Given the description of an element on the screen output the (x, y) to click on. 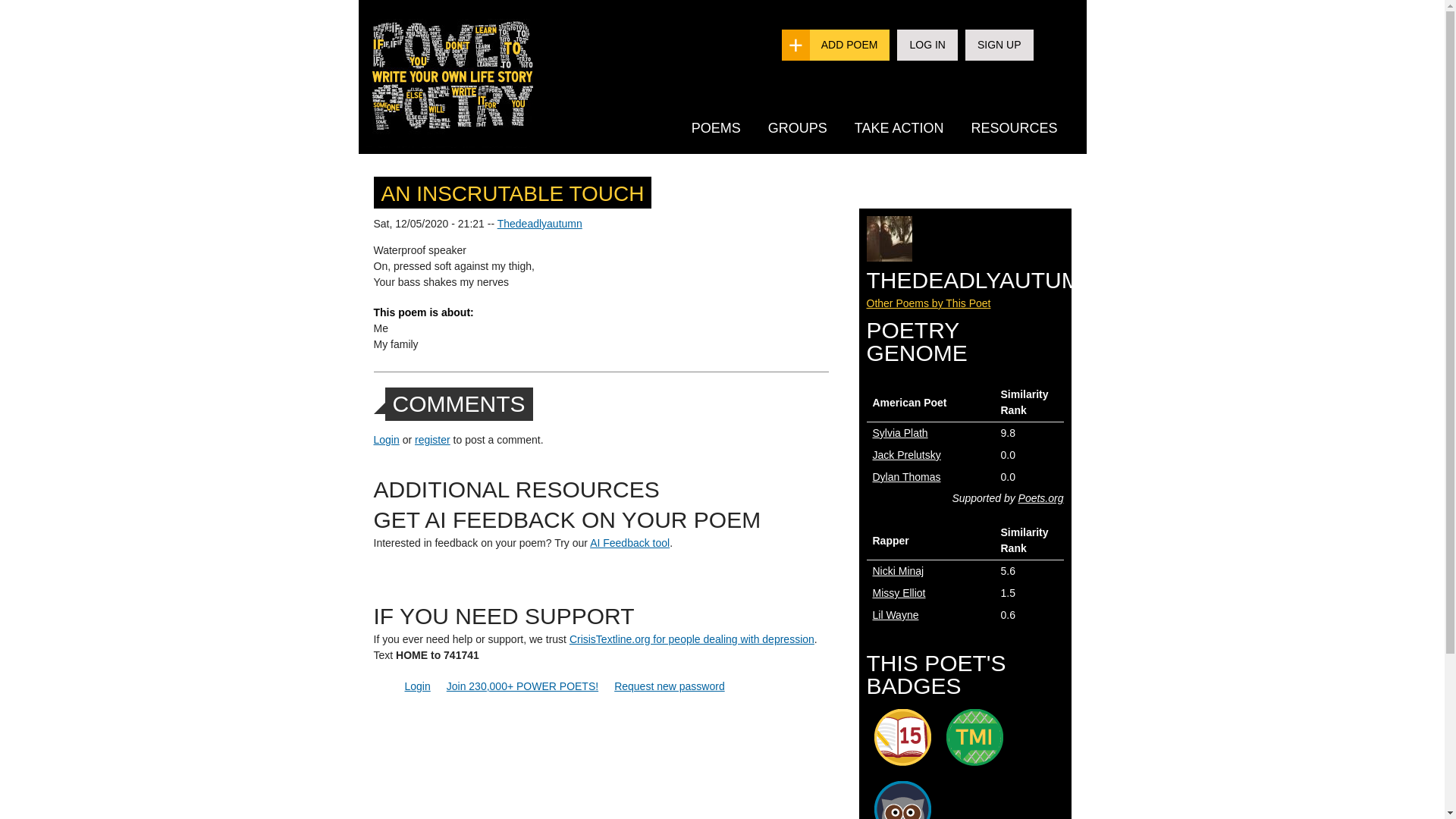
ADD POEM (849, 44)
LOG IN (926, 44)
TAKE ACTION (899, 127)
Skip to main content (691, 1)
GROUPS (797, 127)
POEMS (716, 127)
Thedeadlyautumn (539, 223)
RESOURCES (1013, 127)
SIGN UP (999, 44)
